Given the description of an element on the screen output the (x, y) to click on. 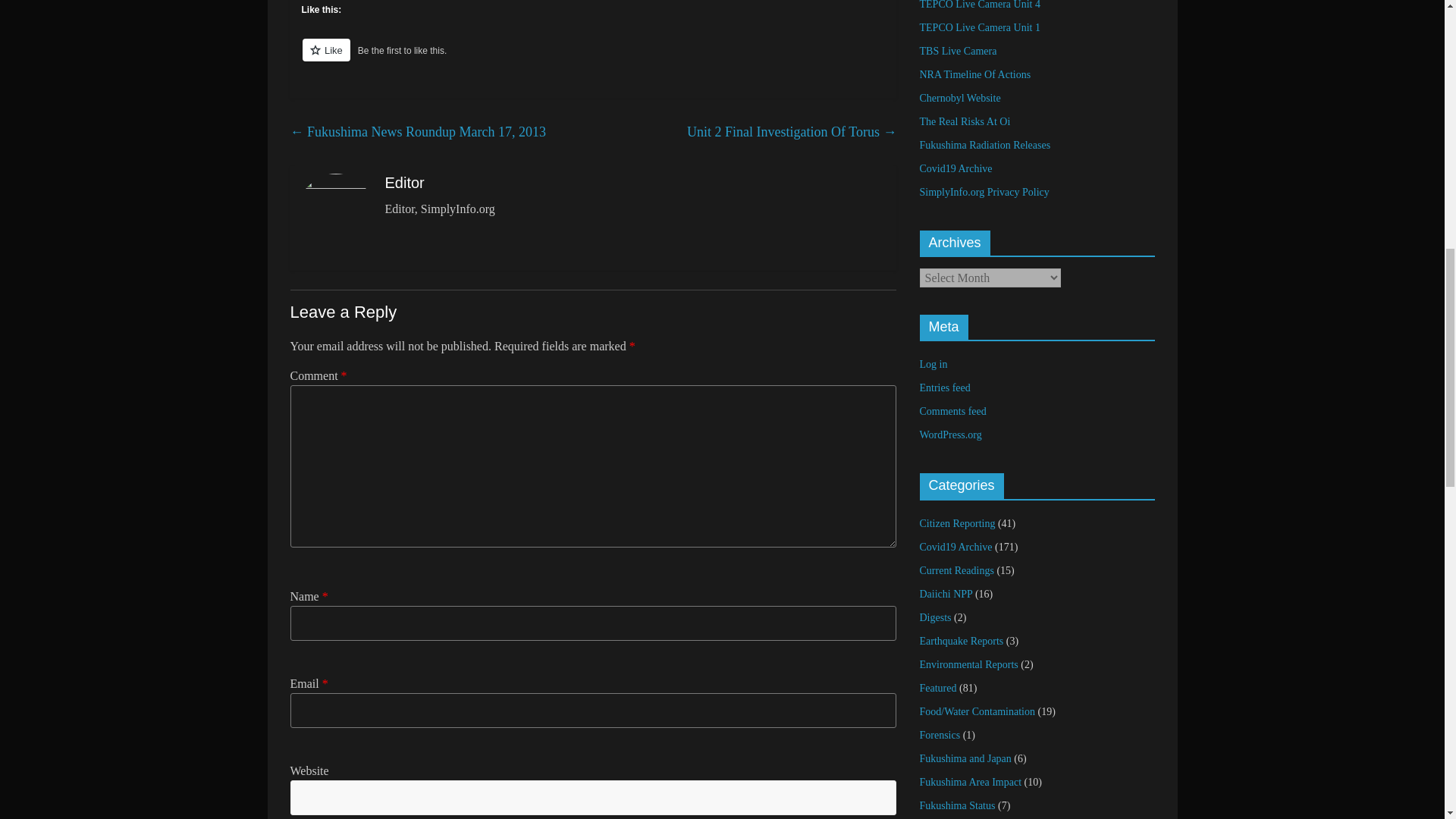
Like or Reblog (593, 58)
